Given the description of an element on the screen output the (x, y) to click on. 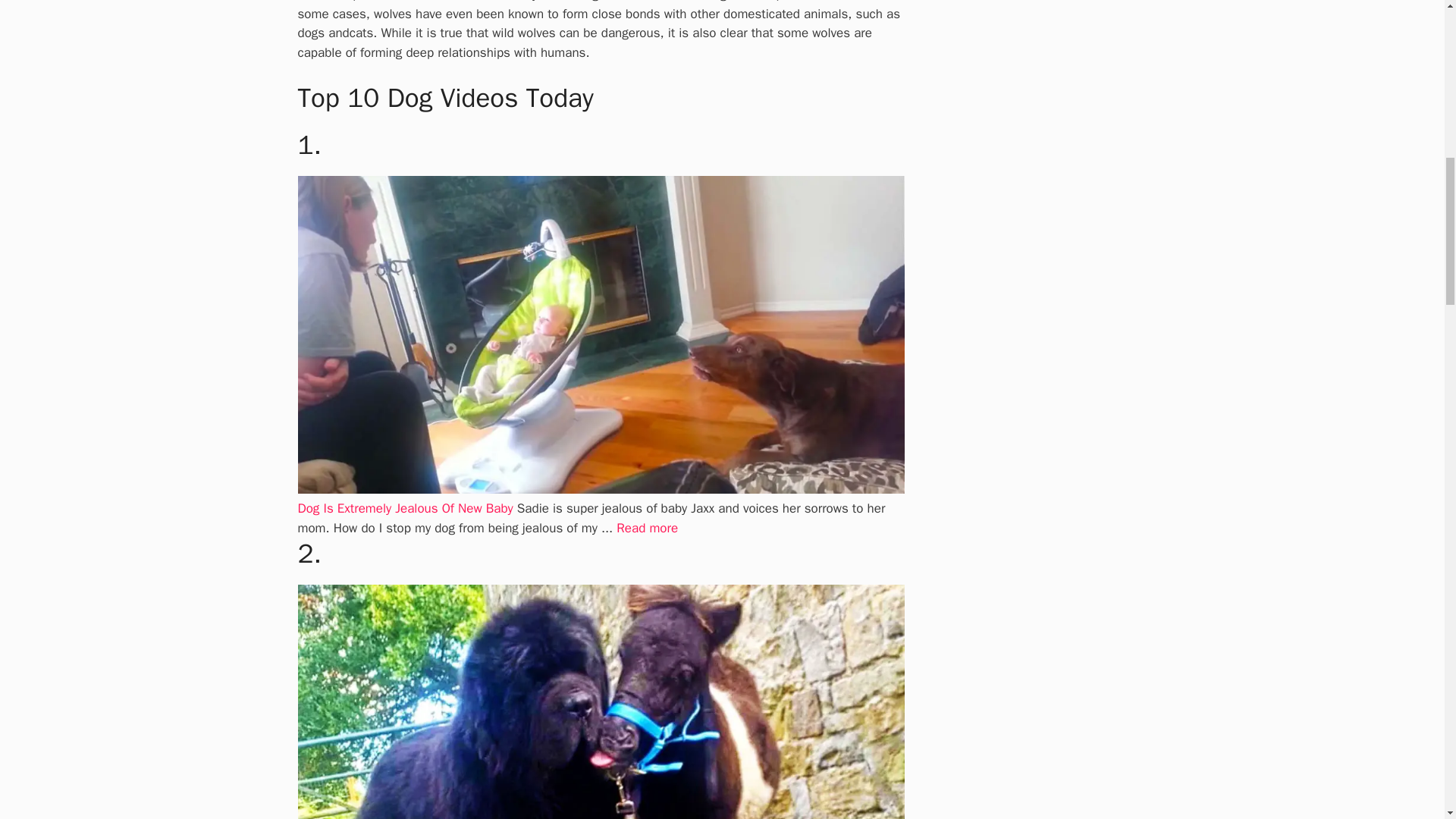
Dog Is Extremely Jealous Of New Baby (646, 528)
Read more (646, 528)
Dog Is Extremely Jealous Of New Baby (404, 508)
